Given the description of an element on the screen output the (x, y) to click on. 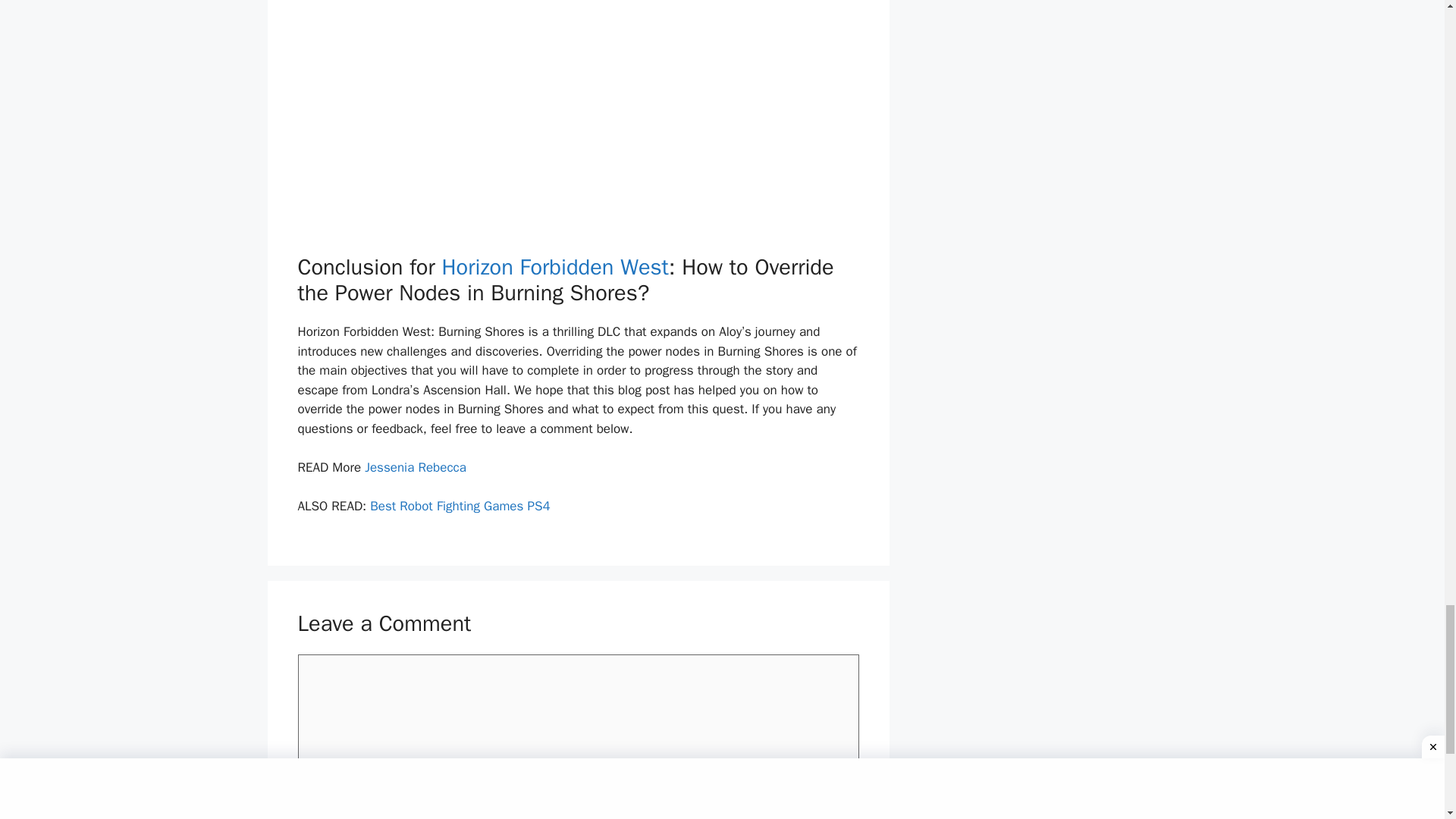
Jessenia Rebecca (415, 467)
Best Robot Fighting Games PS4 (459, 505)
Horizon Forbidden West (554, 267)
